Given the description of an element on the screen output the (x, y) to click on. 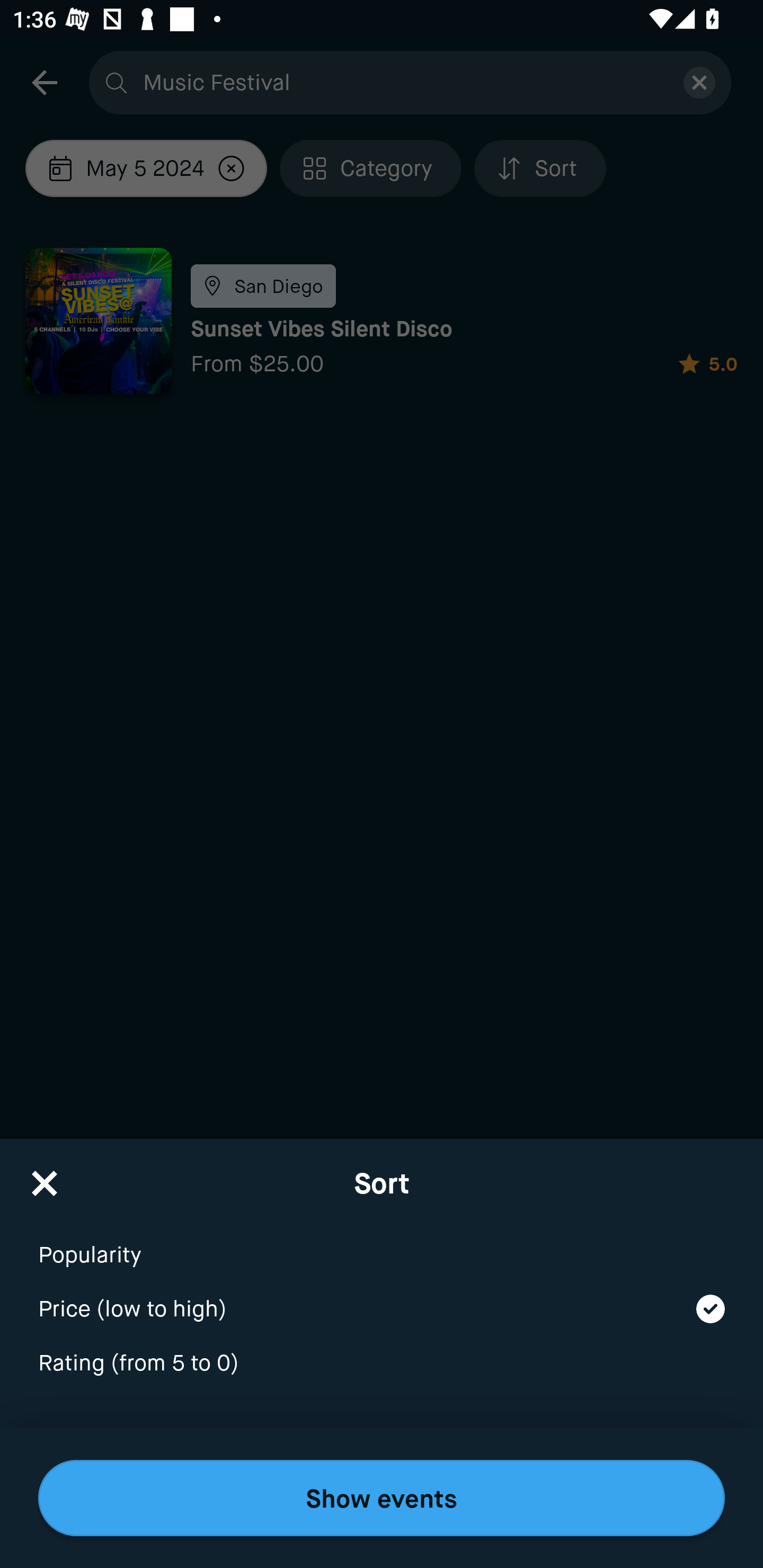
CloseButton (44, 1177)
Popularity (381, 1243)
Price (low to high) Selected Icon (381, 1297)
Rating (from 5 to 0) (381, 1362)
Show events (381, 1497)
